Given the description of an element on the screen output the (x, y) to click on. 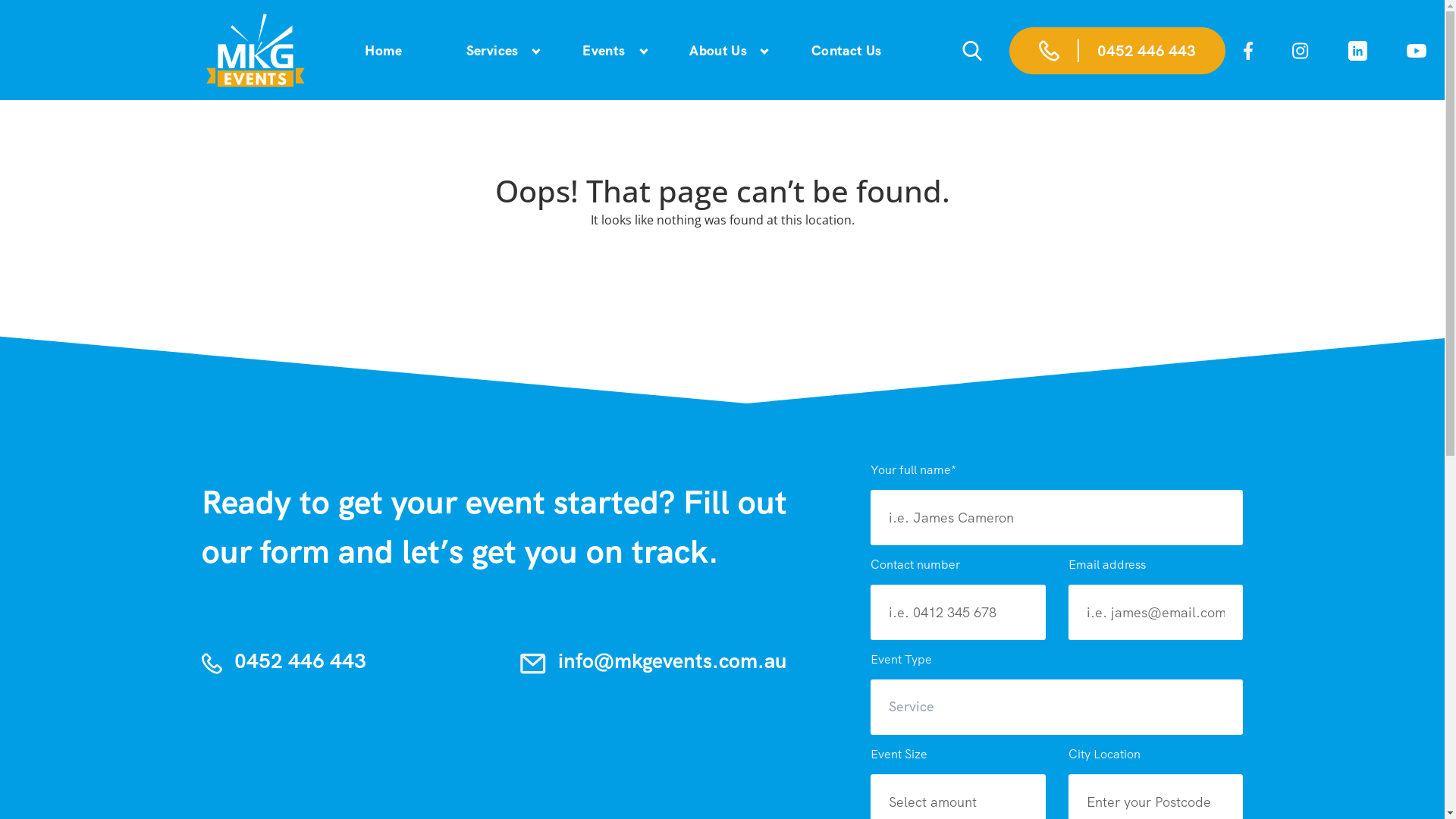
Services Element type: text (492, 50)
Home Element type: text (382, 50)
0452 446 443 Element type: text (1117, 50)
0452 446 443 Element type: text (283, 660)
Contact Us Element type: text (846, 50)
info@mkgevents.com.au Element type: text (653, 660)
Events Element type: text (603, 50)
About Us Element type: text (717, 50)
